Given the description of an element on the screen output the (x, y) to click on. 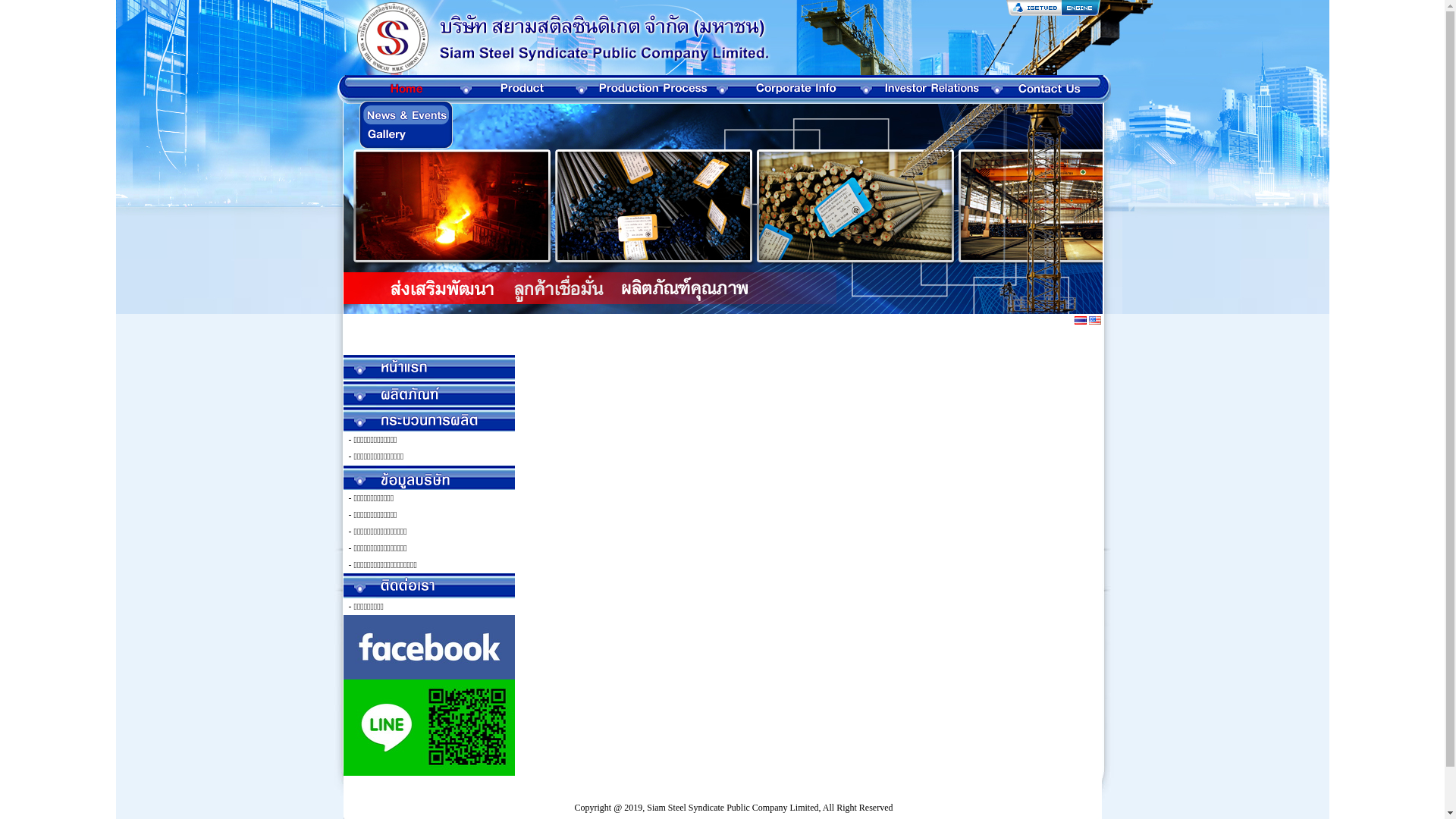
fb Element type: text (428, 647)
Contact Us Element type: text (428, 585)
Production process Element type: text (428, 418)
Corporate Info Element type: text (428, 476)
line Element type: text (428, 727)
Product Element type: text (428, 393)
